Given the description of an element on the screen output the (x, y) to click on. 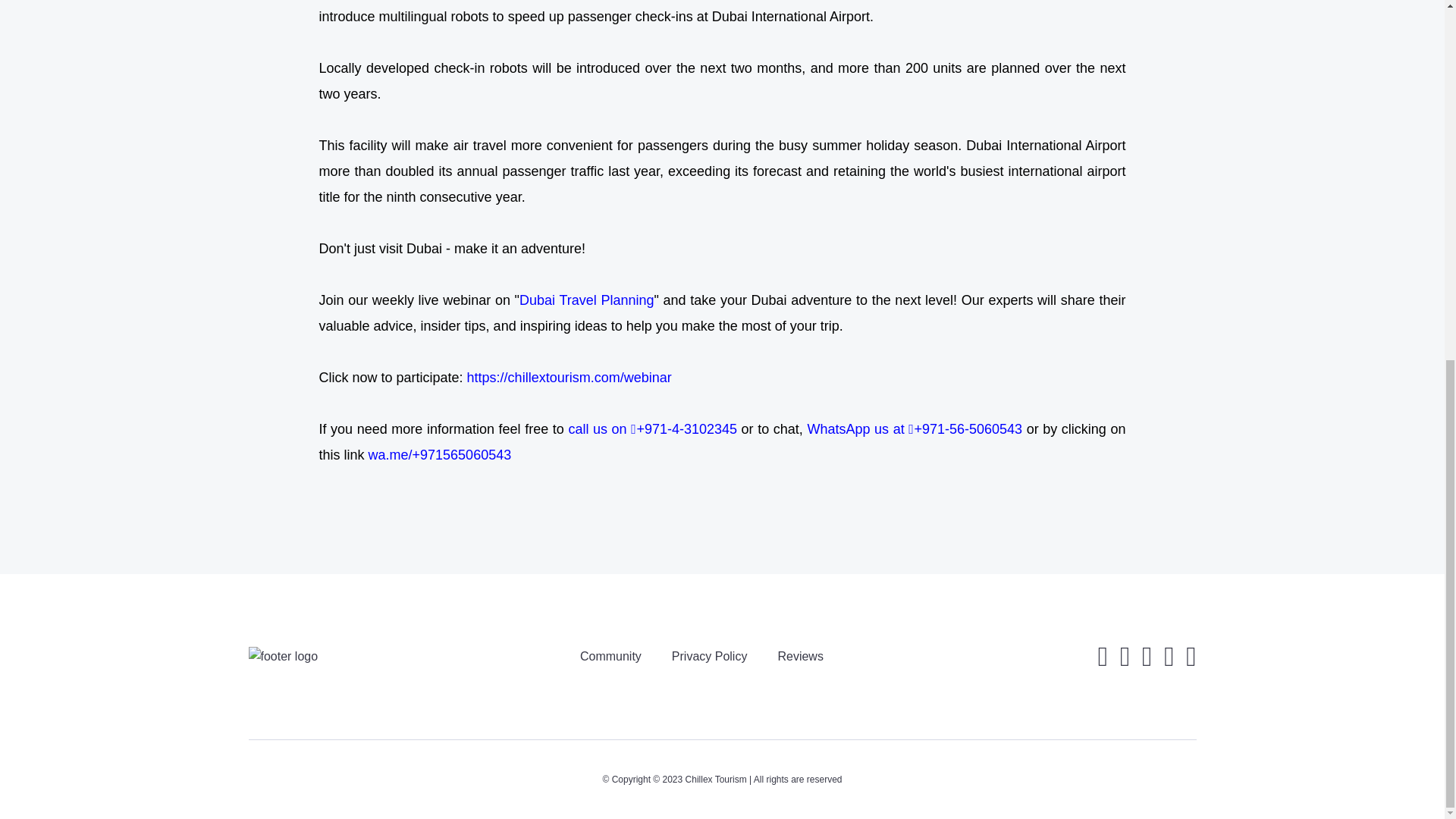
Community (610, 656)
Privacy Policy (709, 656)
Reviews (799, 656)
